Given the description of an element on the screen output the (x, y) to click on. 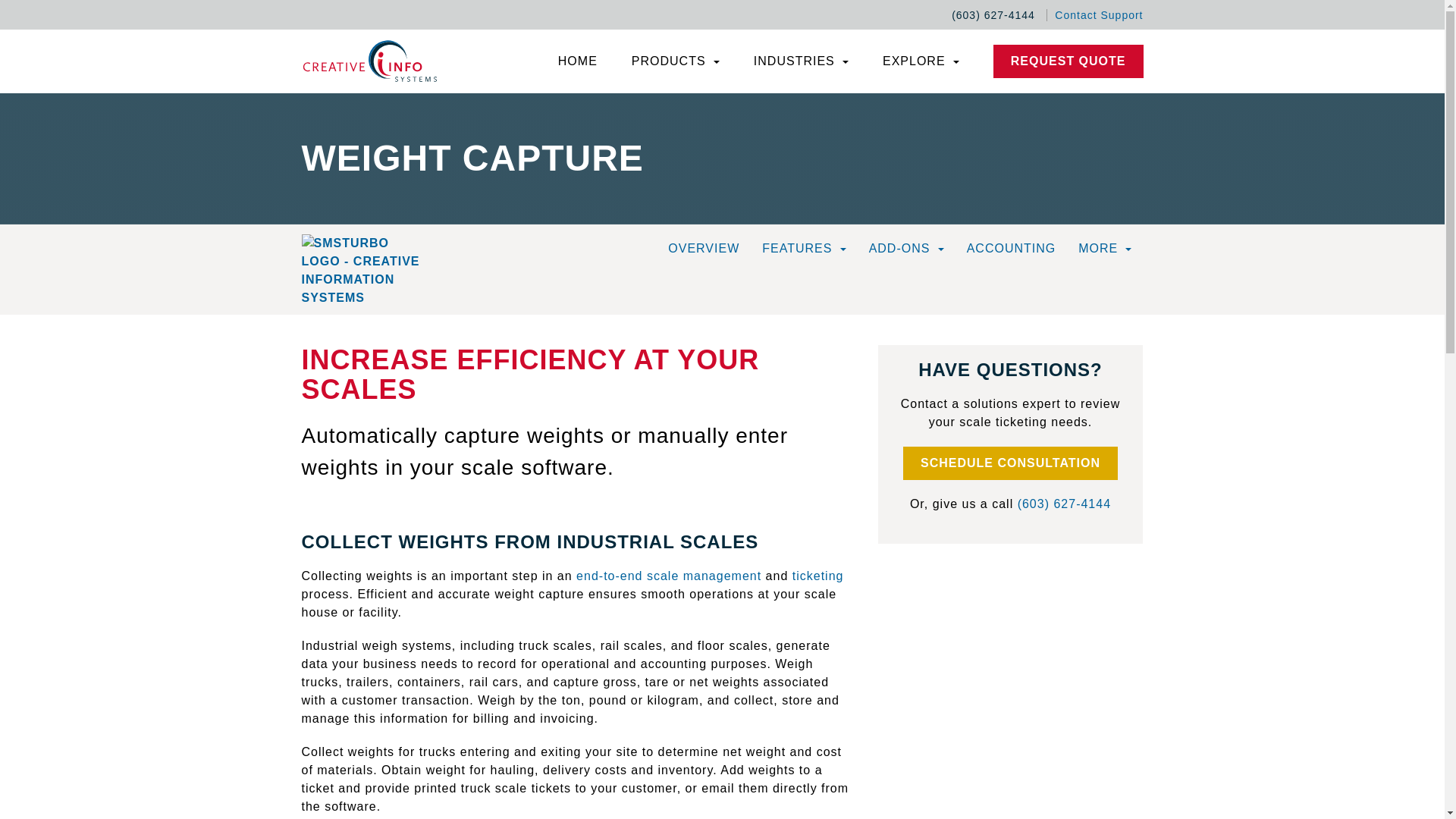
INDUSTRIES (801, 61)
Explore (920, 61)
Request Quote (1067, 61)
Add-Ons (906, 247)
Features (803, 247)
Overview (703, 247)
PRODUCTS (675, 61)
Contact Support (1094, 15)
Products (675, 61)
EXPLORE (920, 61)
